Given the description of an element on the screen output the (x, y) to click on. 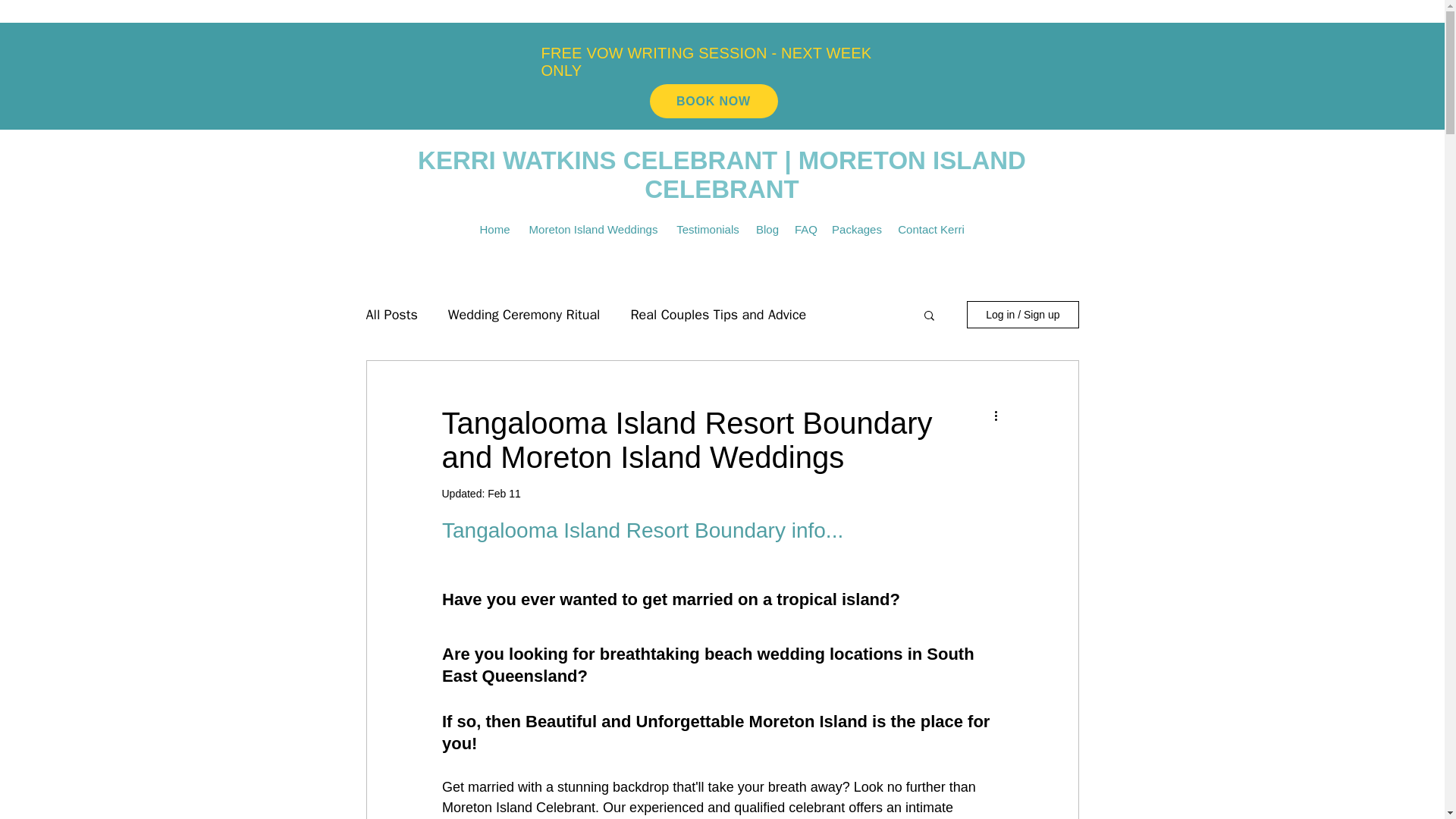
FAQ (805, 229)
Moreton Island Weddings (593, 229)
BOOK NOW (713, 100)
Wedding Ceremony Ritual (523, 314)
All Posts (390, 314)
Contact Kerri (930, 229)
Testimonials (708, 229)
Feb 11 (504, 493)
Home (494, 229)
Blog (767, 229)
